Given the description of an element on the screen output the (x, y) to click on. 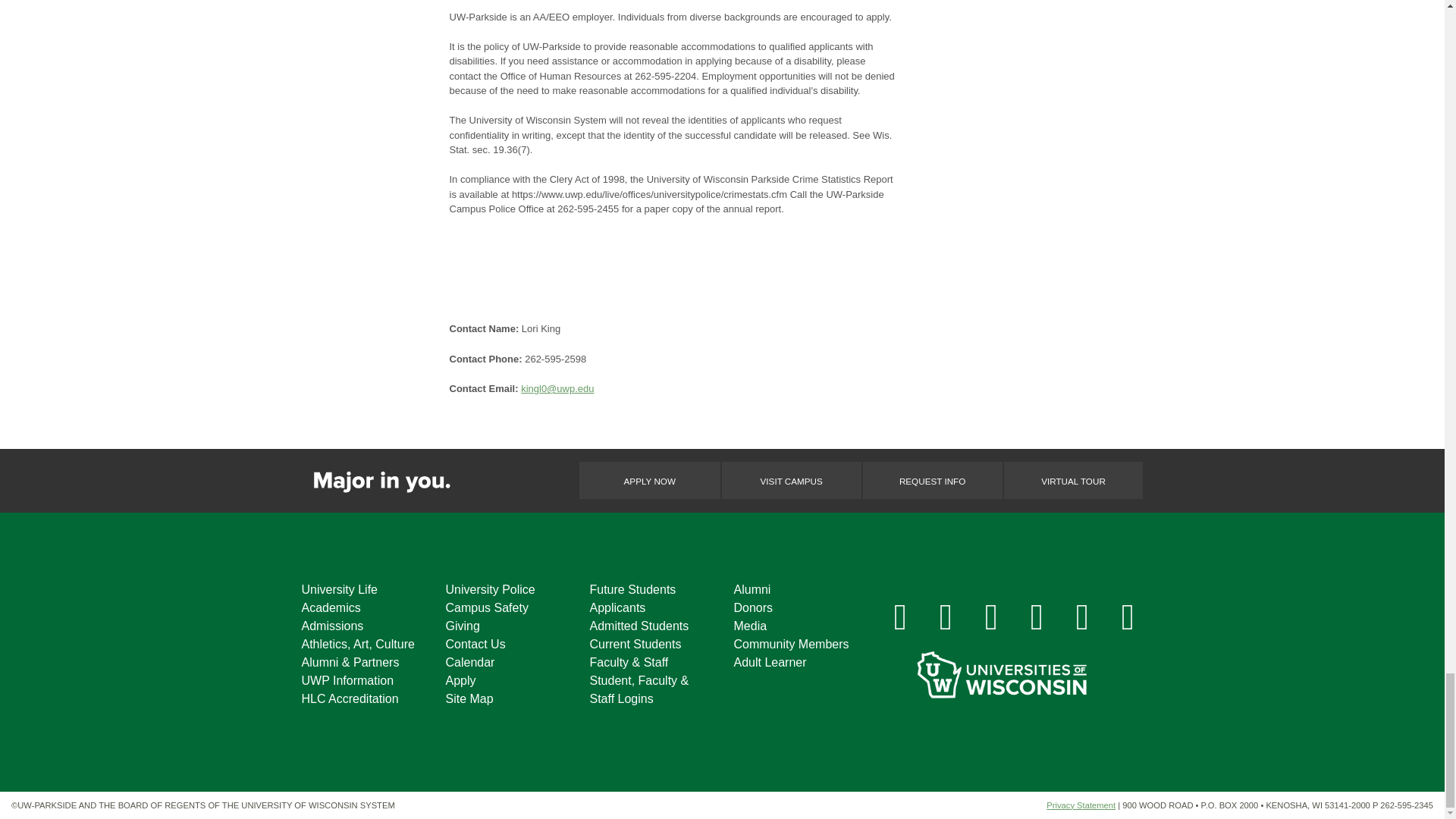
Facebook (900, 615)
TikTok (1082, 615)
Instagram (946, 615)
X (991, 615)
LinkedIn (1036, 615)
Email Admissions (1128, 615)
